Given the description of an element on the screen output the (x, y) to click on. 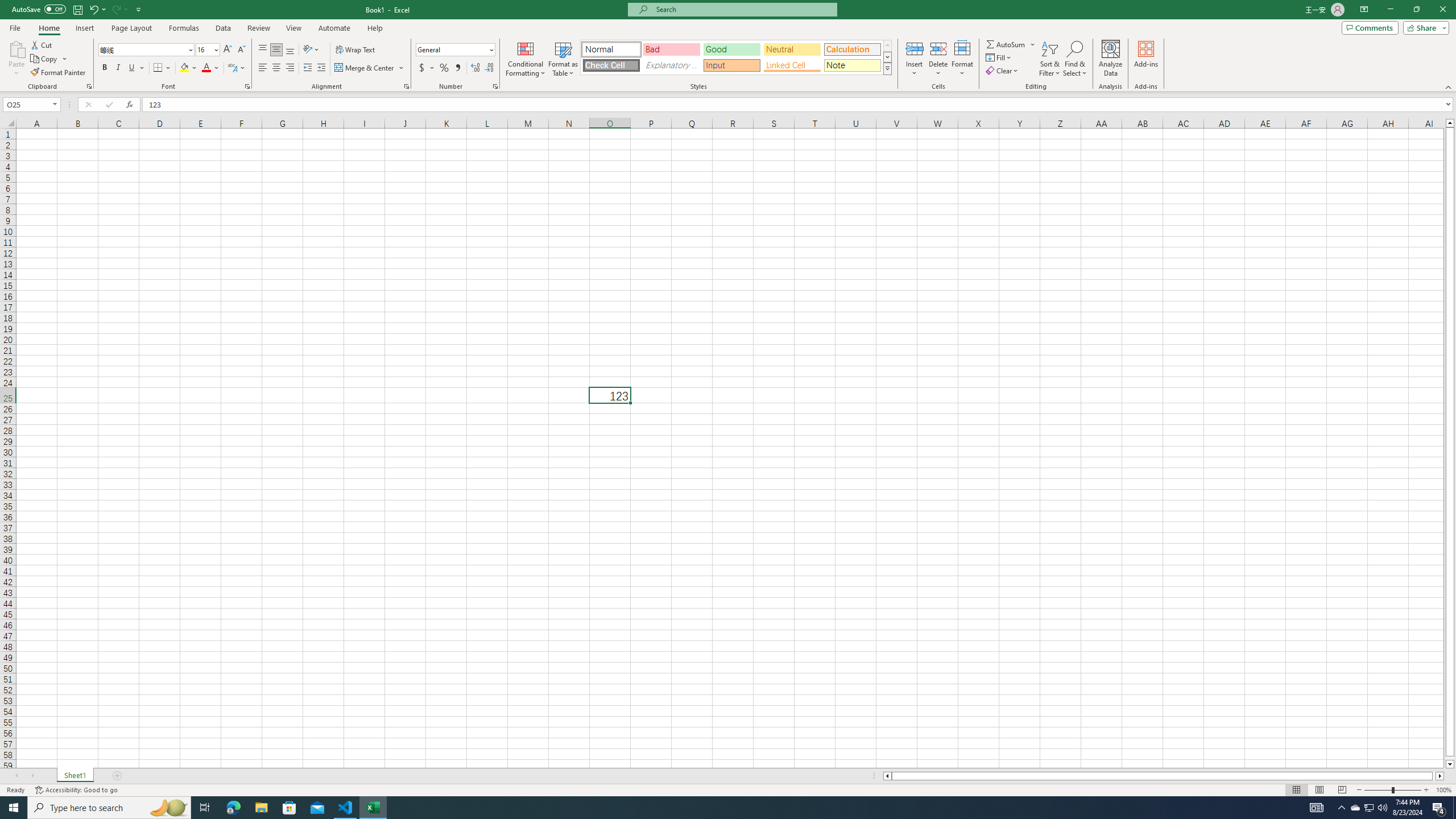
Note (852, 65)
Paste (16, 48)
Decrease Font Size (240, 49)
Increase Decimal (474, 67)
Orientation (311, 49)
Delete (938, 58)
Number Format (451, 49)
